Given the description of an element on the screen output the (x, y) to click on. 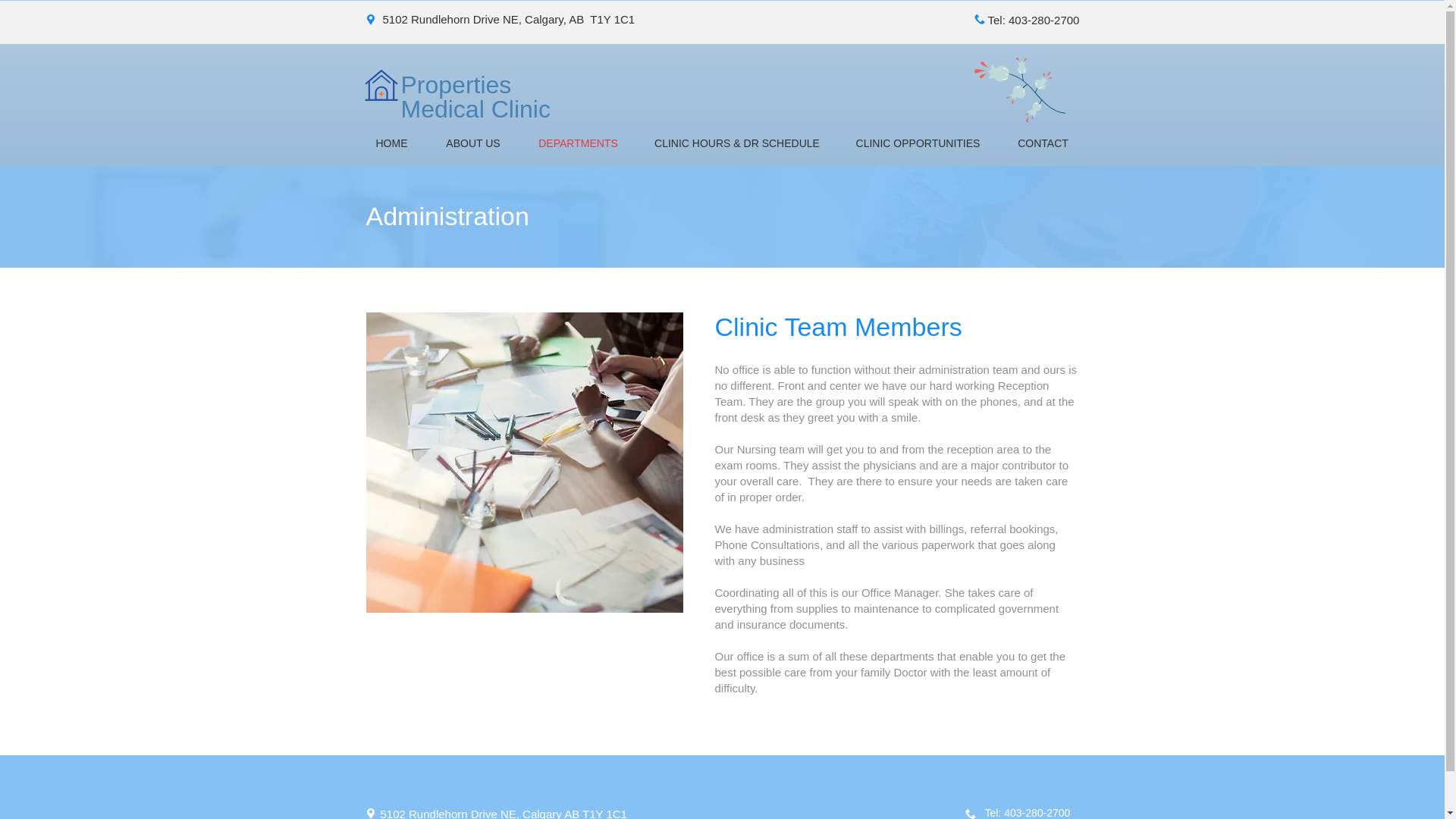
ABOUT US (472, 143)
Properties Medical Clinic (475, 96)
CLINIC OPPORTUNITIES (917, 143)
DEPARTMENTS (578, 143)
HOME (391, 143)
CONTACT (1042, 143)
